Given the description of an element on the screen output the (x, y) to click on. 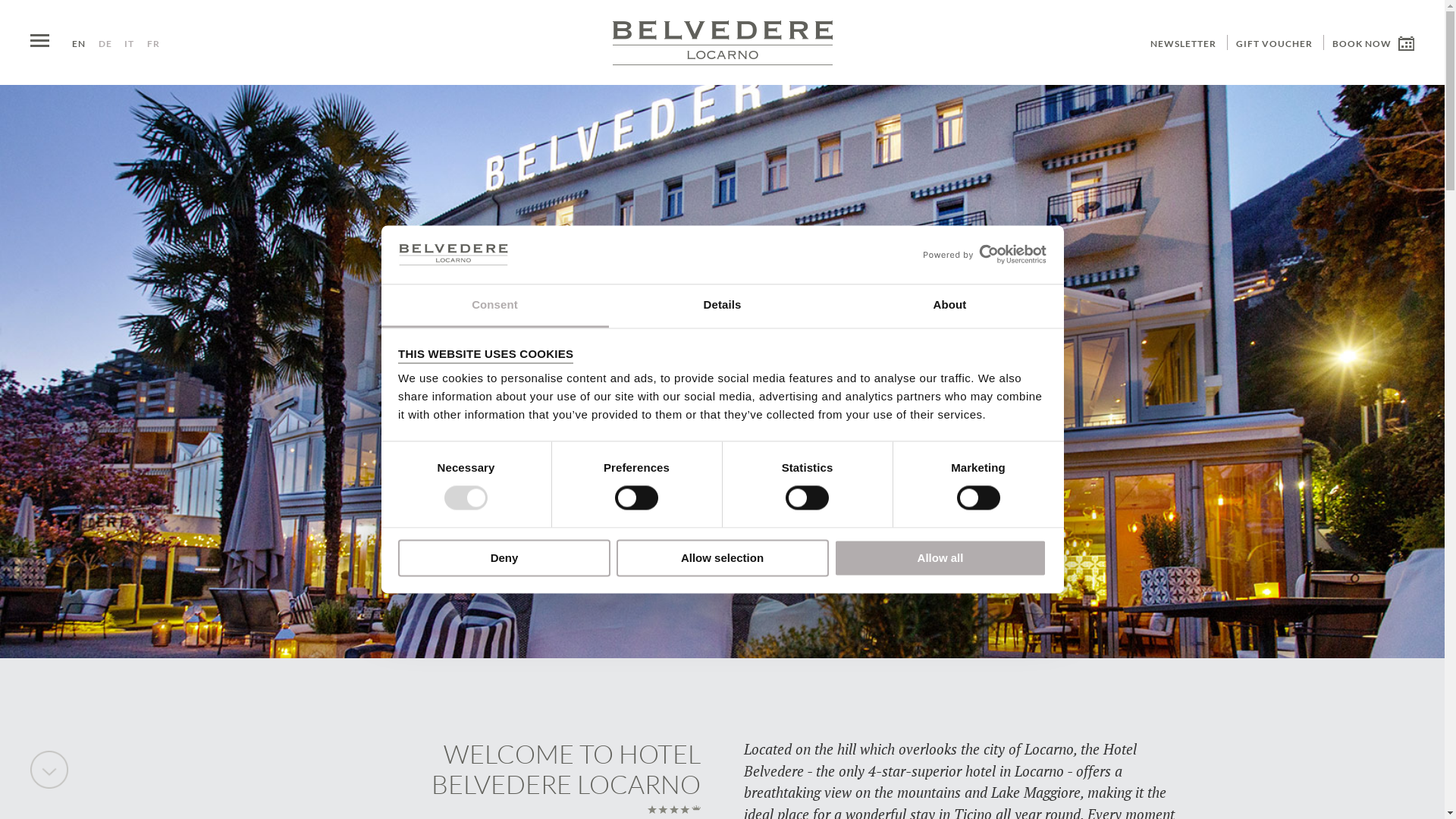
Allow selection Element type: text (721, 557)
FR Element type: text (153, 43)
EN Element type: text (78, 43)
Consent Element type: text (494, 305)
Details Element type: text (721, 305)
NEWSLETTER Element type: text (1183, 43)
DE Element type: text (105, 43)
BOOK NOW Element type: text (1373, 43)
label:Generic.Logo Element type: text (722, 42)
GIFT VOUCHER Element type: text (1274, 43)
About Element type: text (949, 305)
IT Element type: text (129, 43)
Deny Element type: text (504, 557)
label:Generic.Menu Element type: text (39, 40)
Allow all Element type: text (940, 557)
